Given the description of an element on the screen output the (x, y) to click on. 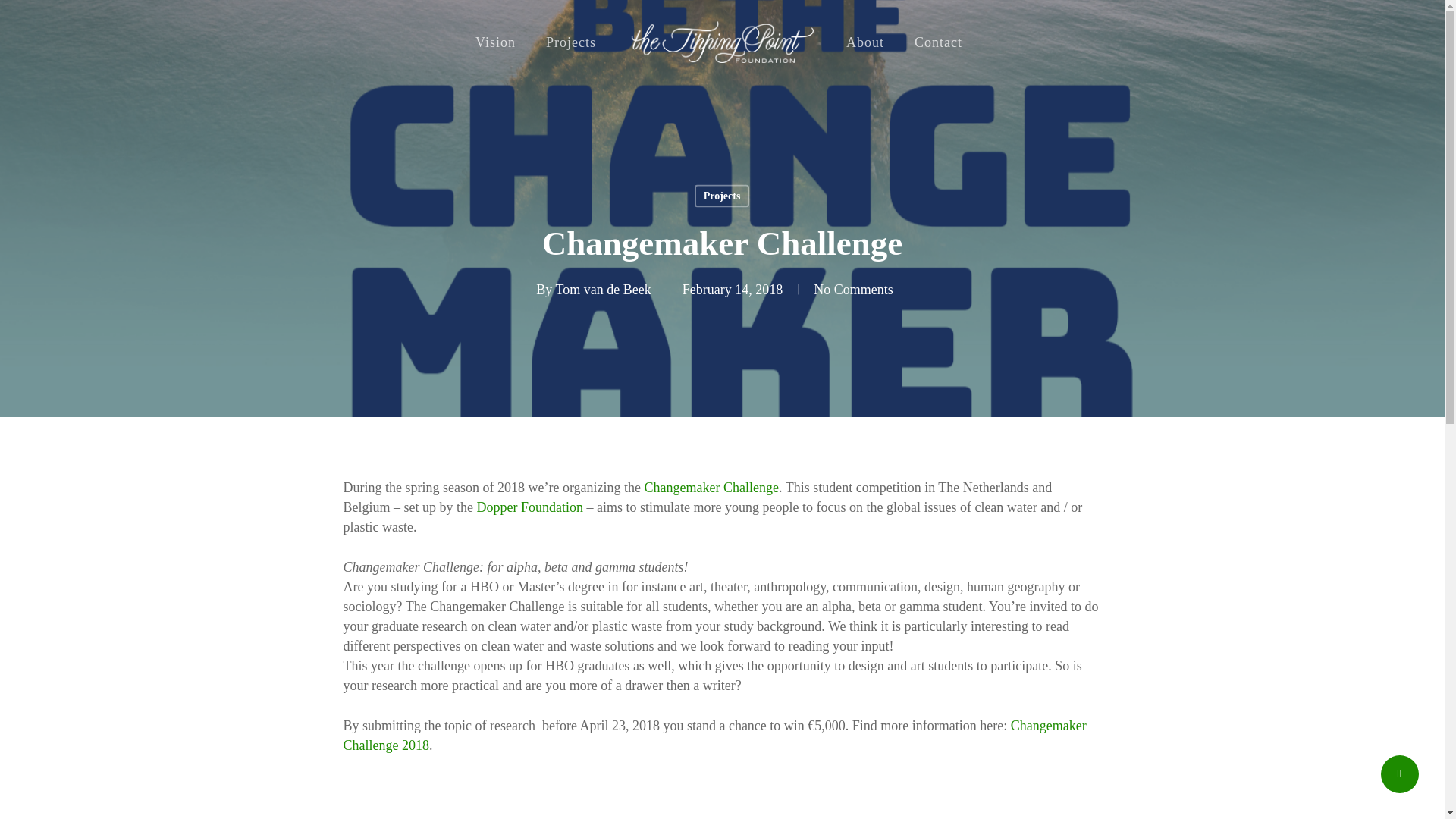
About (865, 41)
Vision (495, 41)
Changemaker Challenge (711, 487)
Dopper Foundation (529, 507)
Projects (571, 41)
Tom van de Beek (602, 289)
No Comments (853, 289)
Changemaker Challenge 2018 (714, 735)
Contact (937, 41)
Posts by Tom van de Beek (602, 289)
Projects (721, 196)
